Given the description of an element on the screen output the (x, y) to click on. 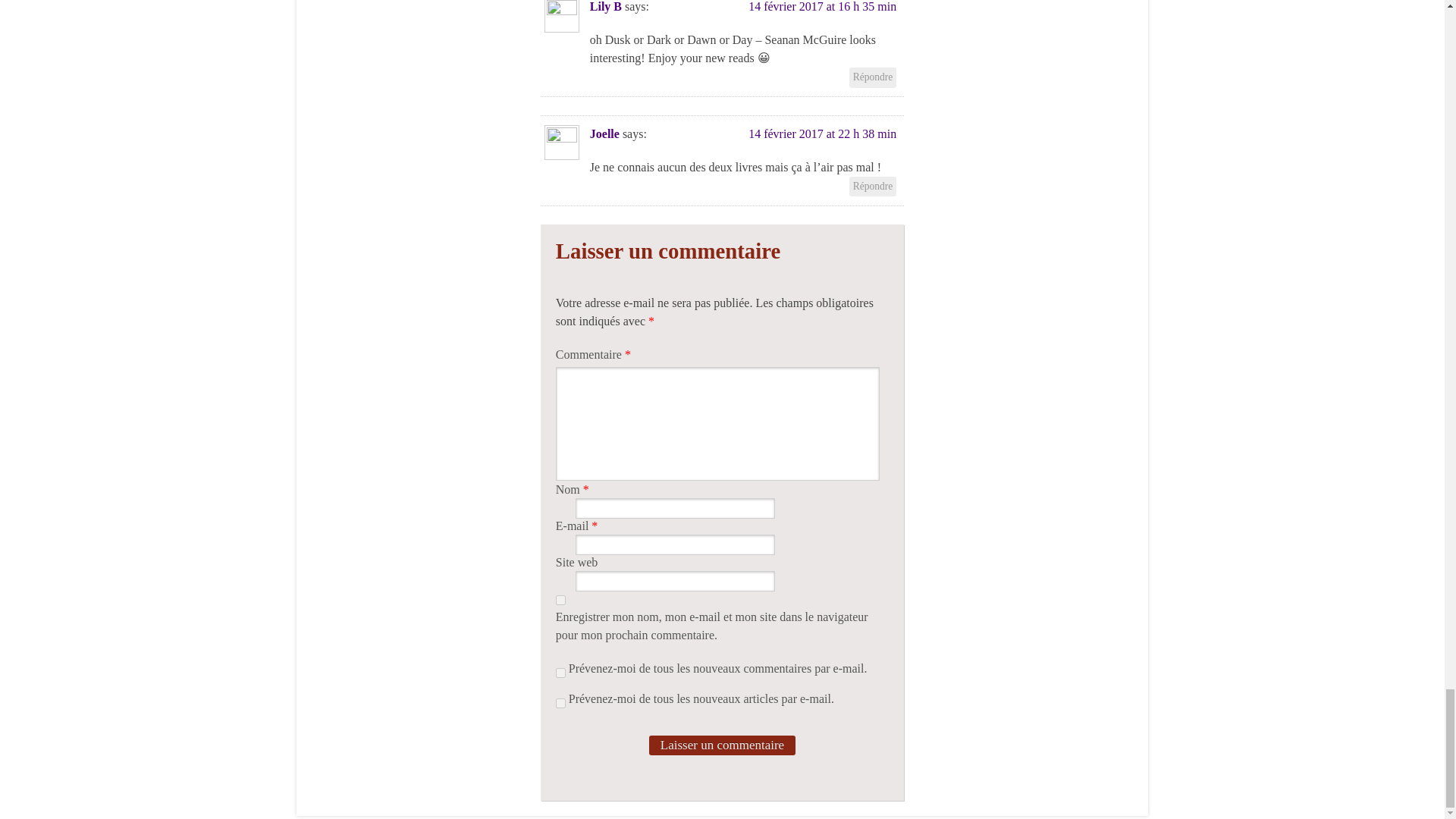
yes (561, 600)
subscribe (561, 703)
Laisser un commentaire (721, 745)
subscribe (561, 673)
